Given the description of an element on the screen output the (x, y) to click on. 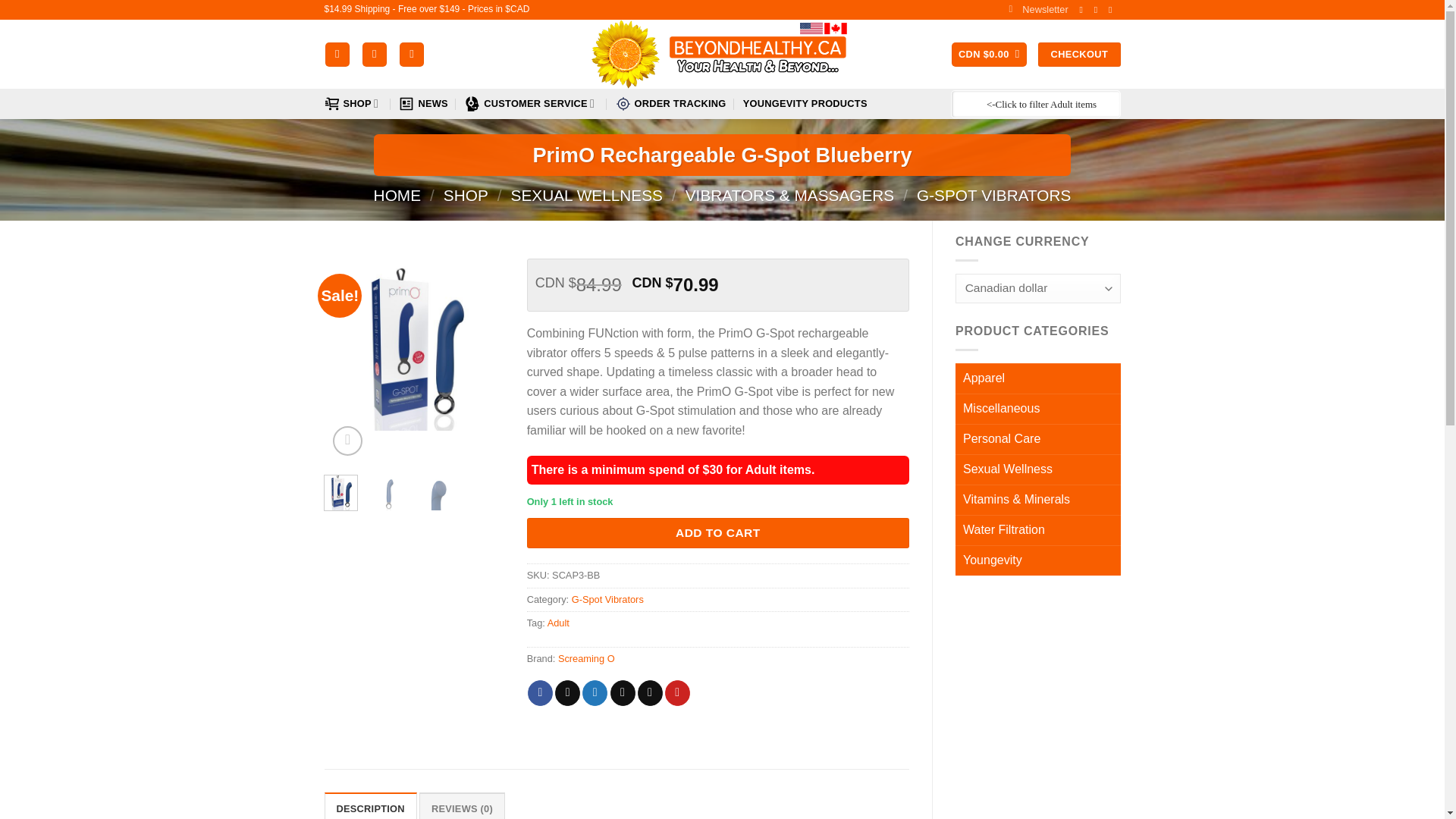
Login (374, 54)
Newsletter (1038, 9)
Cart (989, 54)
SHOP (353, 103)
CHECKOUT (1078, 54)
View all posts filed under Apparel (1038, 378)
Sign up for Newsletter (1038, 9)
Wishlist (410, 54)
